Given the description of an element on the screen output the (x, y) to click on. 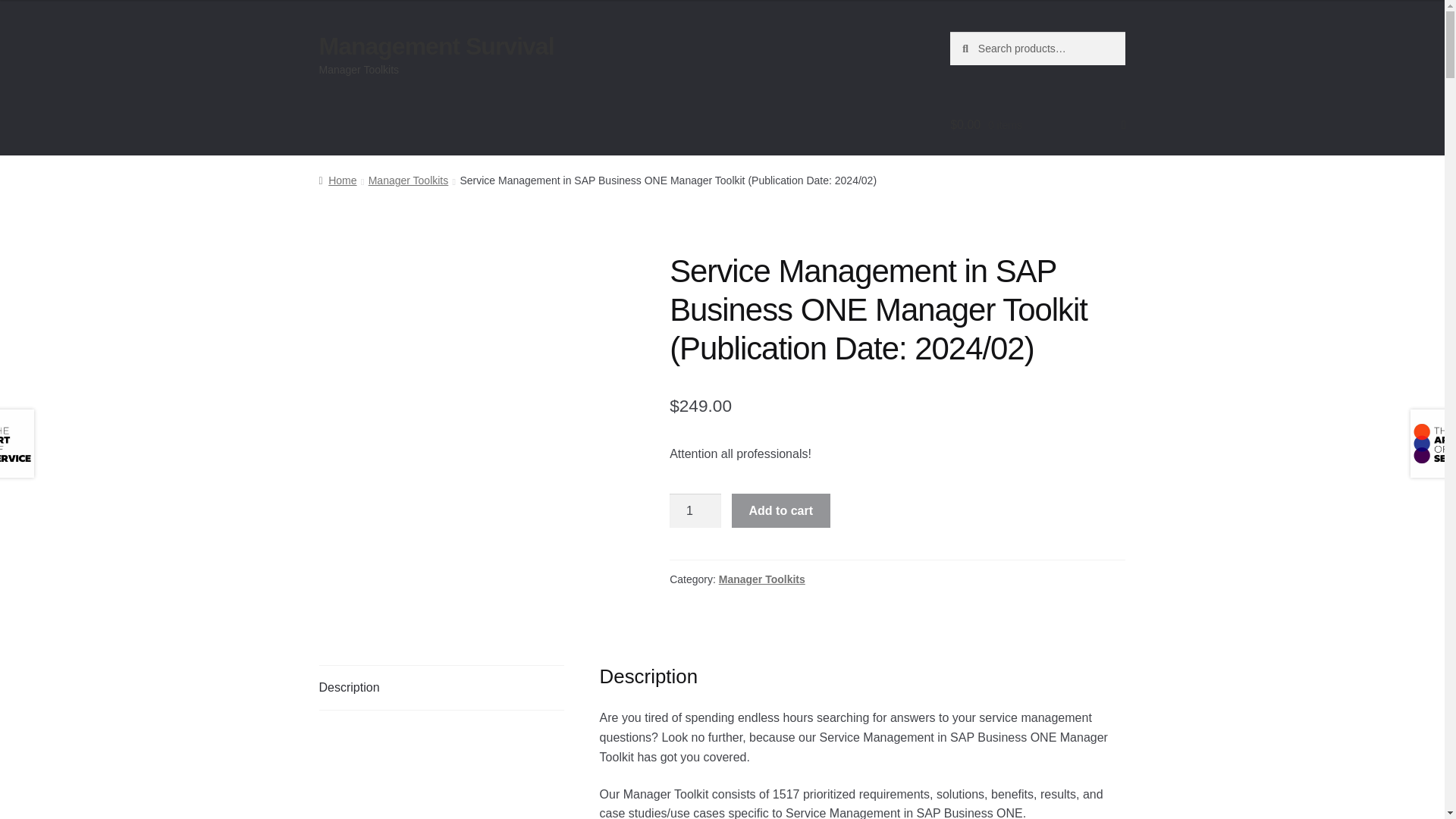
Description (441, 687)
View your shopping cart (1037, 124)
Manager Toolkits (762, 579)
Add to cart (780, 510)
Management Survival (436, 45)
Manager Toolkits (408, 180)
1 (694, 510)
Home (337, 180)
